Given the description of an element on the screen output the (x, y) to click on. 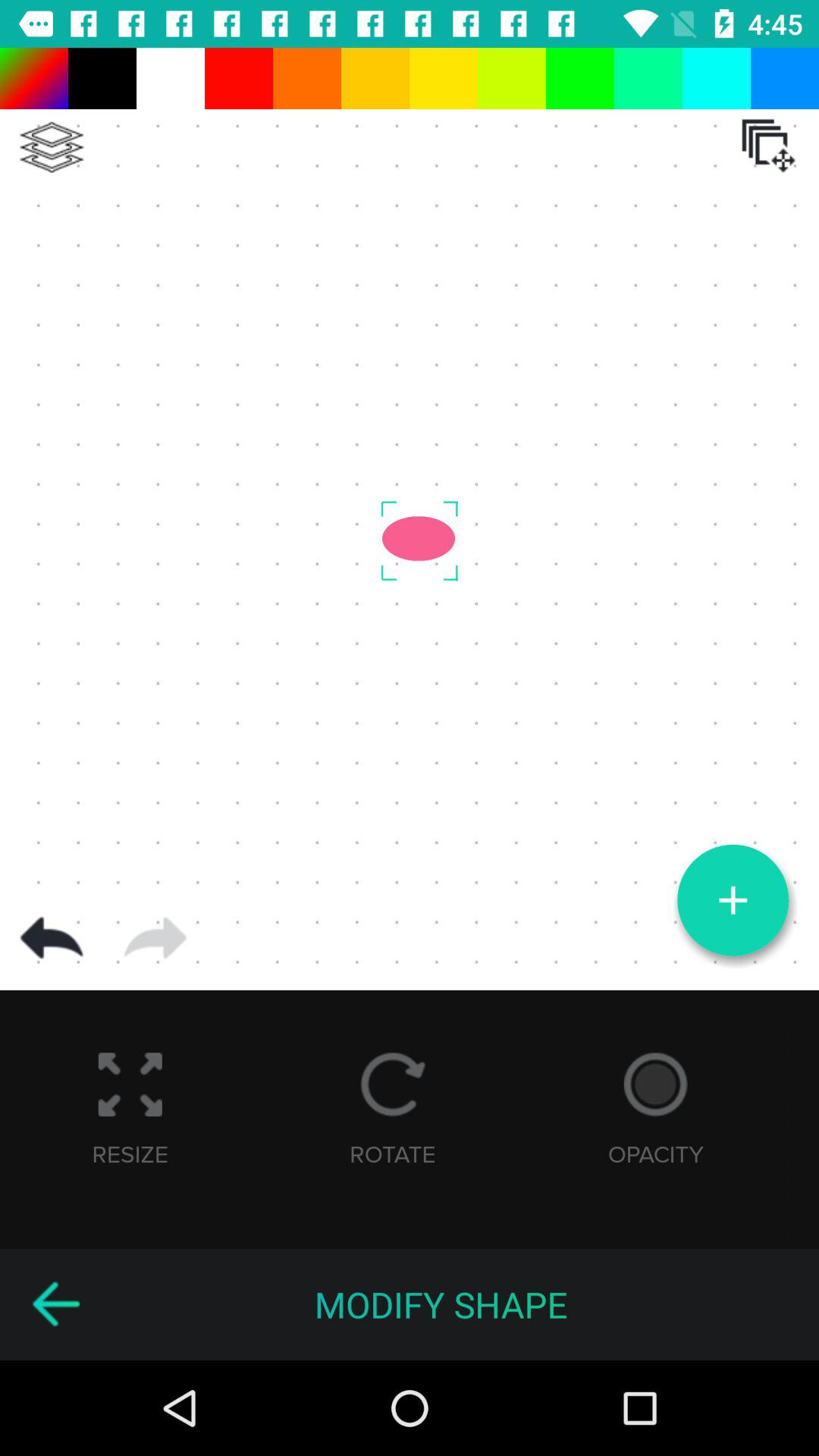
change canvas size for art (768, 145)
